Given the description of an element on the screen output the (x, y) to click on. 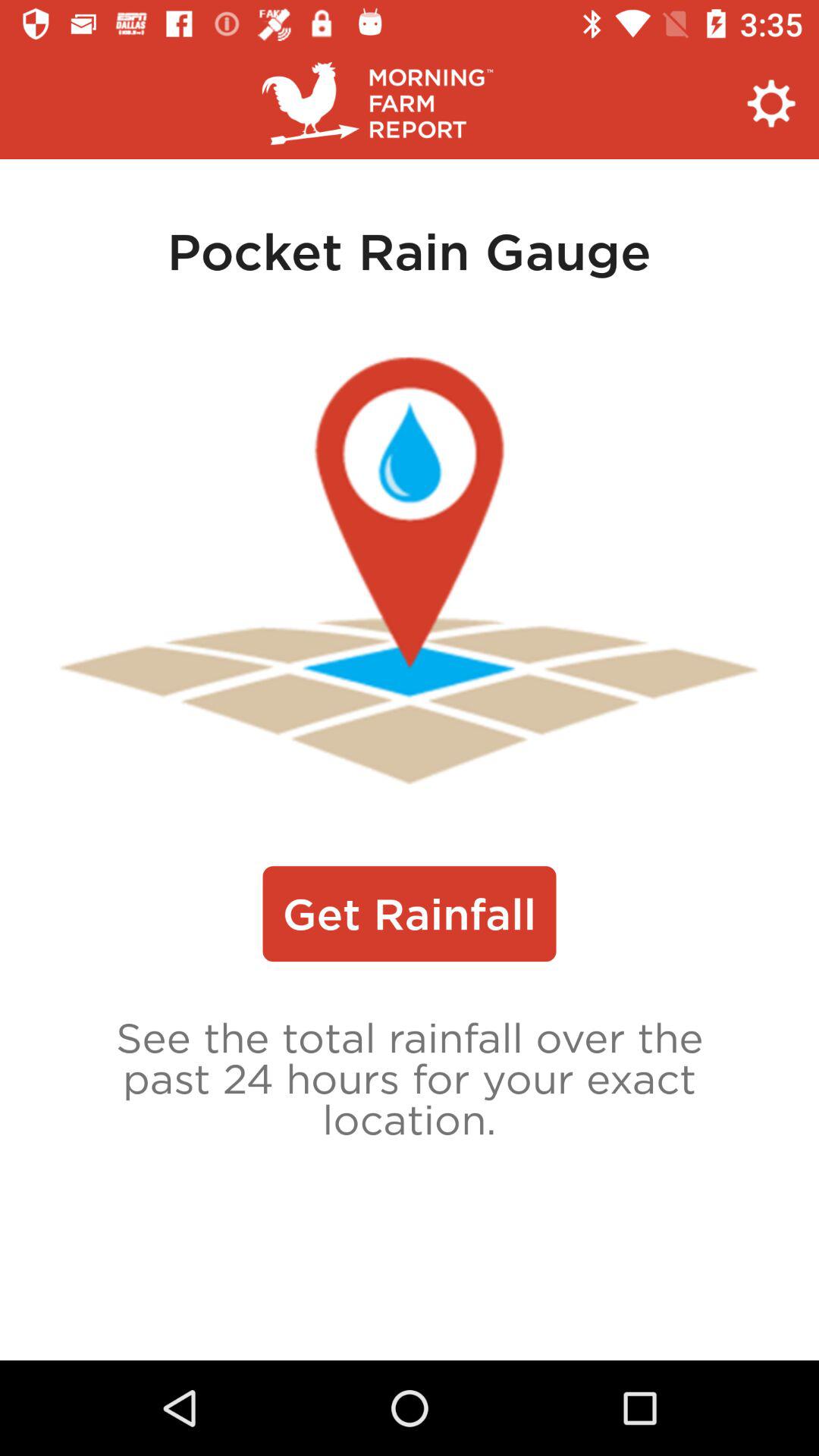
press the get rainfall icon (409, 913)
